Given the description of an element on the screen output the (x, y) to click on. 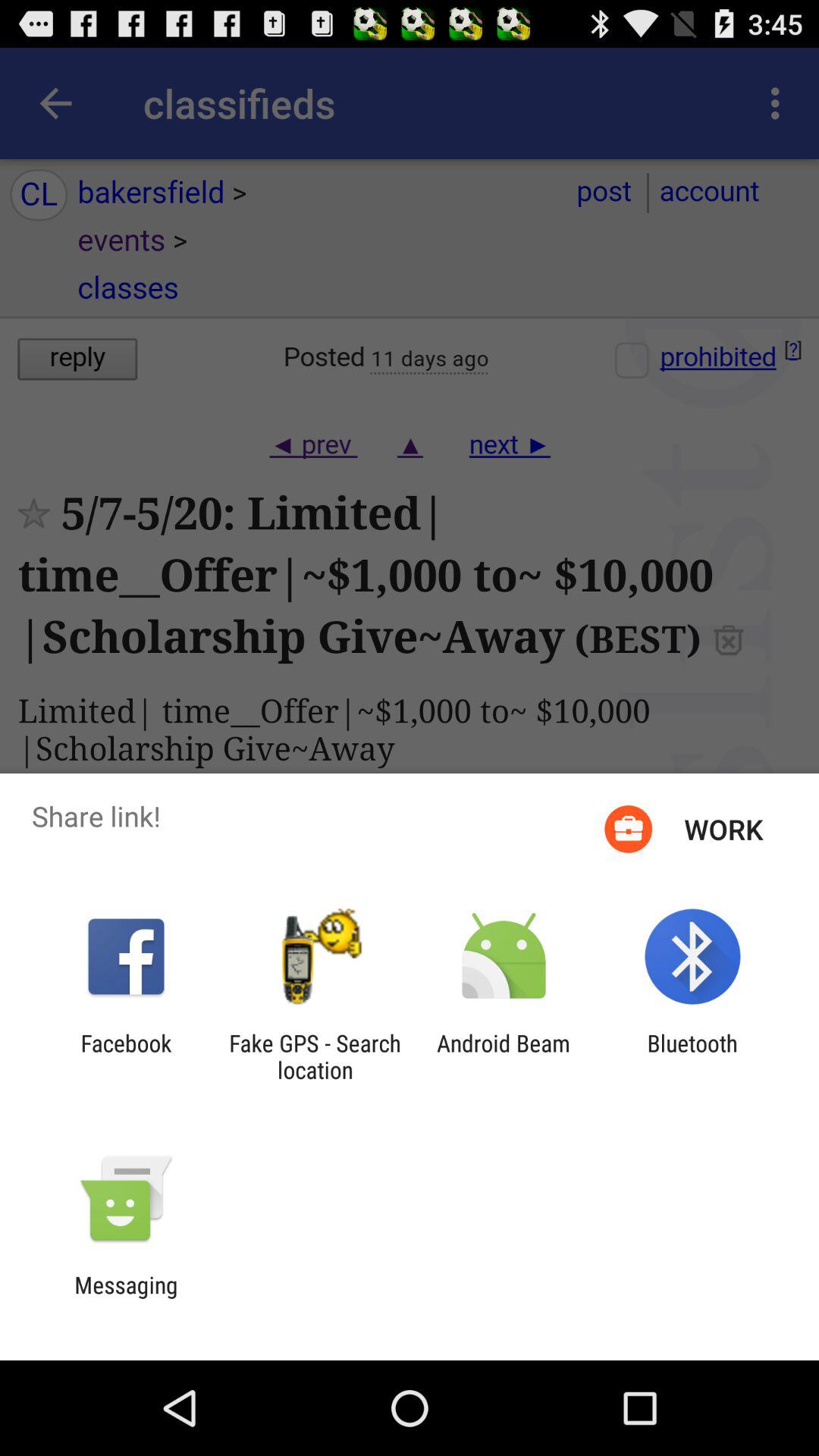
select messaging (126, 1298)
